Given the description of an element on the screen output the (x, y) to click on. 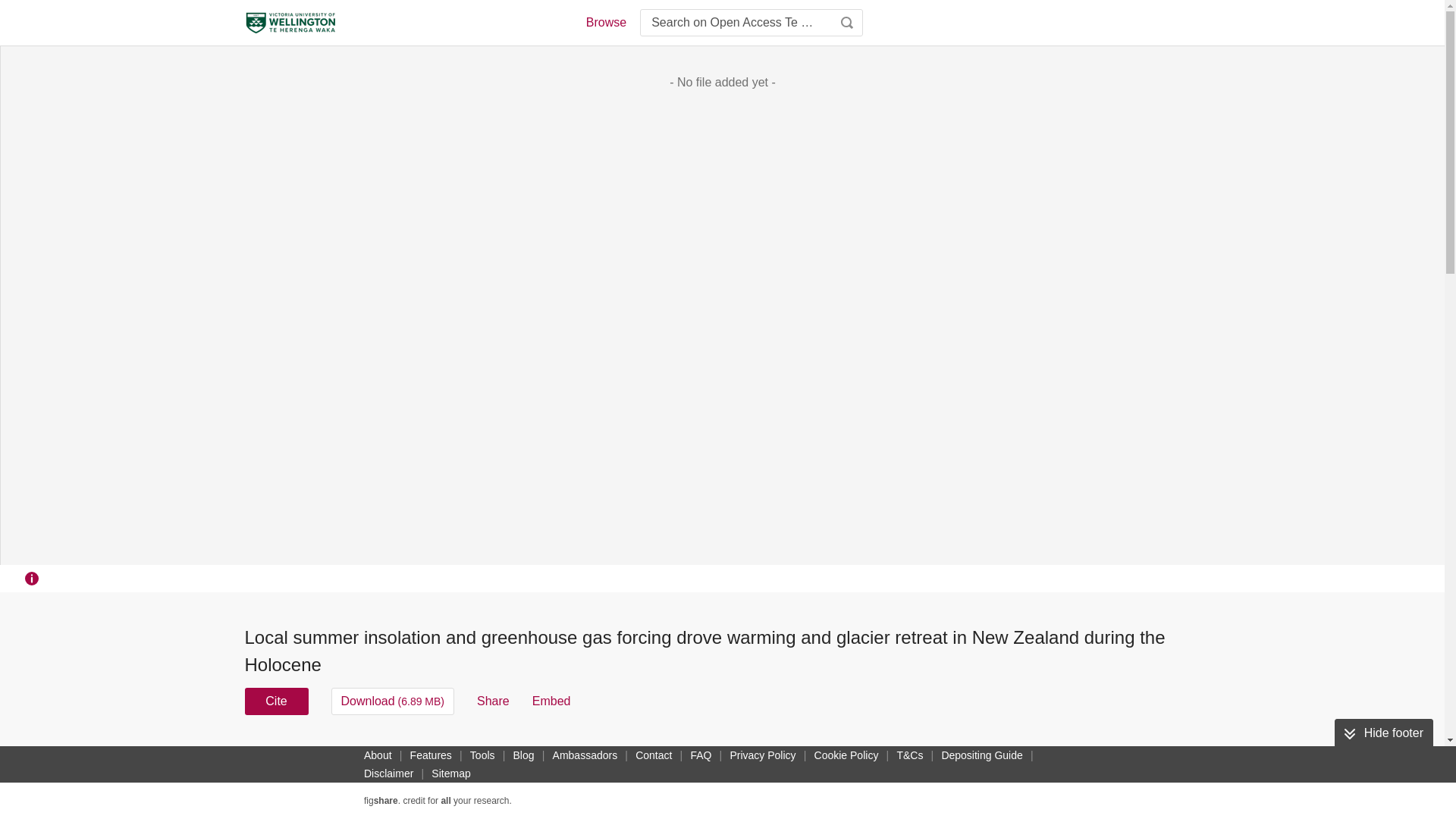
Lauren Vargo (464, 768)
USAGE METRICS (976, 755)
Shaun Eaves (678, 750)
Brian Anderson (285, 768)
Share (493, 700)
Browse (605, 22)
Embed (551, 700)
Cite (275, 700)
Kevin Norton (757, 750)
